Given the description of an element on the screen output the (x, y) to click on. 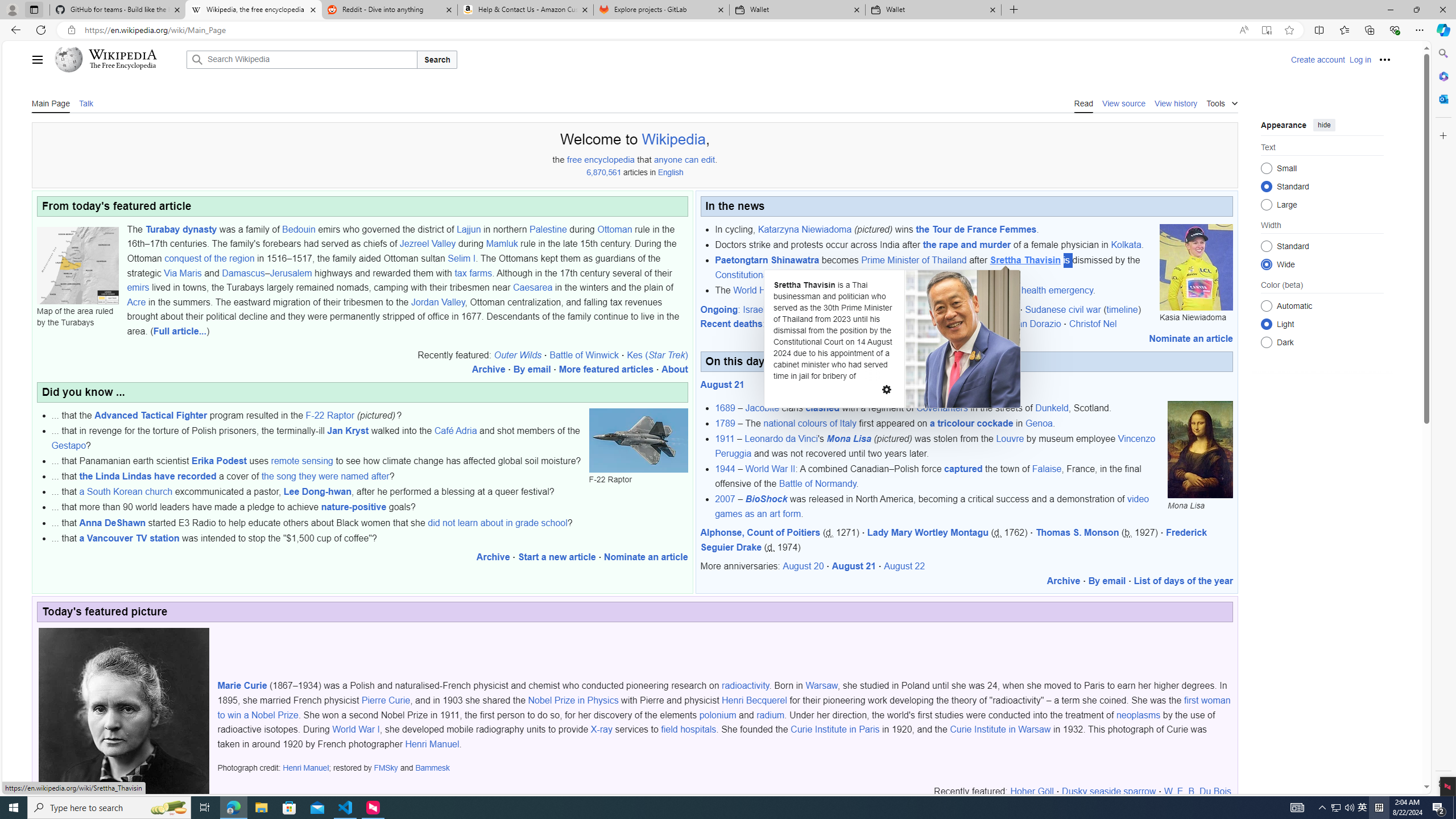
the Linda Lindas have recorded (147, 476)
Curie Institute in Warsaw (1000, 729)
radium (770, 714)
emirs (137, 287)
(timeline) (1122, 309)
global health emergency (1043, 289)
August 22 (904, 566)
Bedouin (298, 229)
Dusky seaside sparrow (1108, 791)
Wikipedia (122, 54)
neoplasms (1137, 714)
Paetongtarn Shinawatra (766, 260)
